Given the description of an element on the screen output the (x, y) to click on. 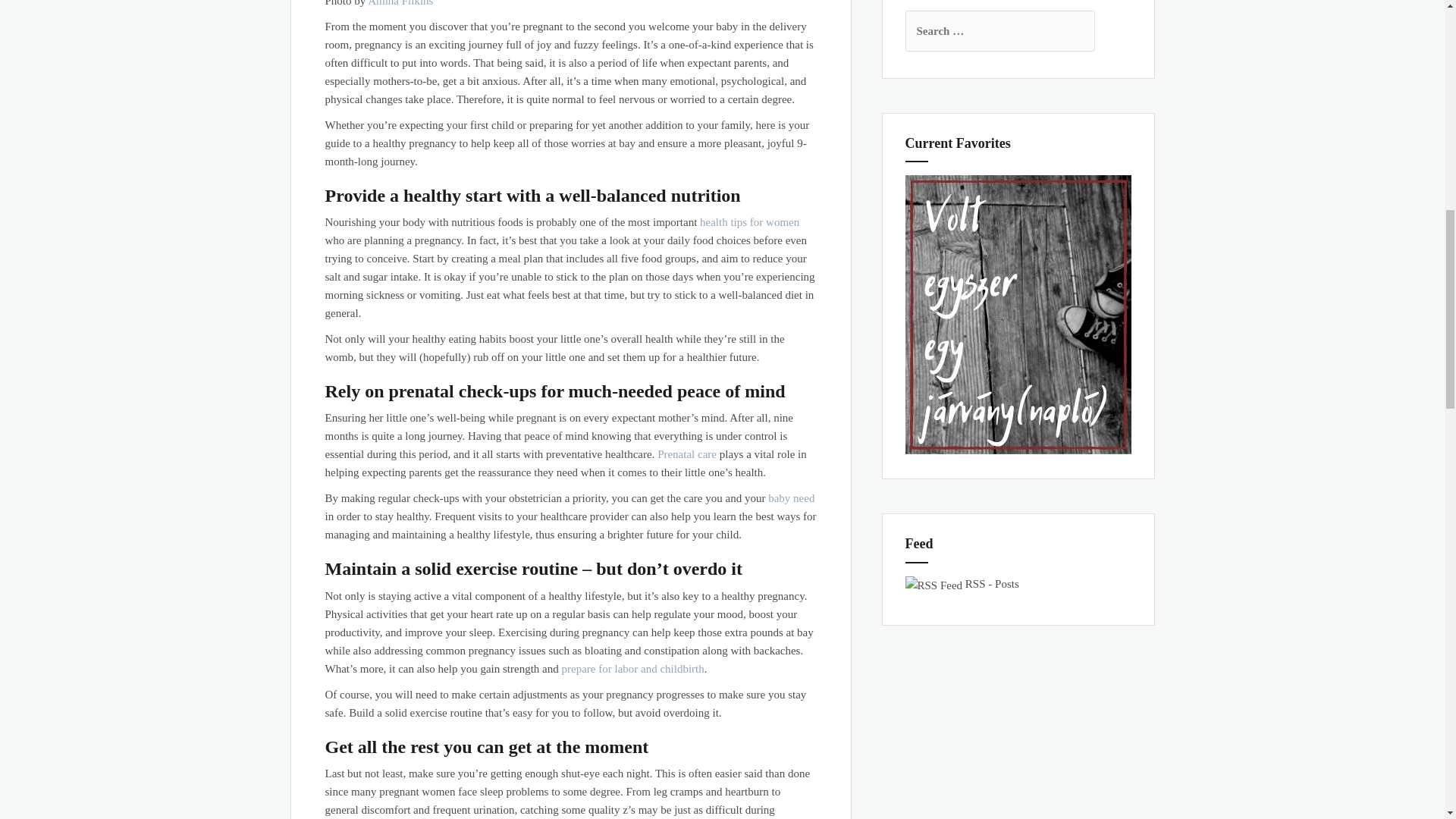
Amina Filkins (398, 3)
prepare for labor and childbirth (633, 668)
Subscribe to Posts (992, 583)
baby need (790, 498)
Subscribe to Posts (933, 583)
Prenatal care (687, 453)
health tips for women (749, 222)
